Given the description of an element on the screen output the (x, y) to click on. 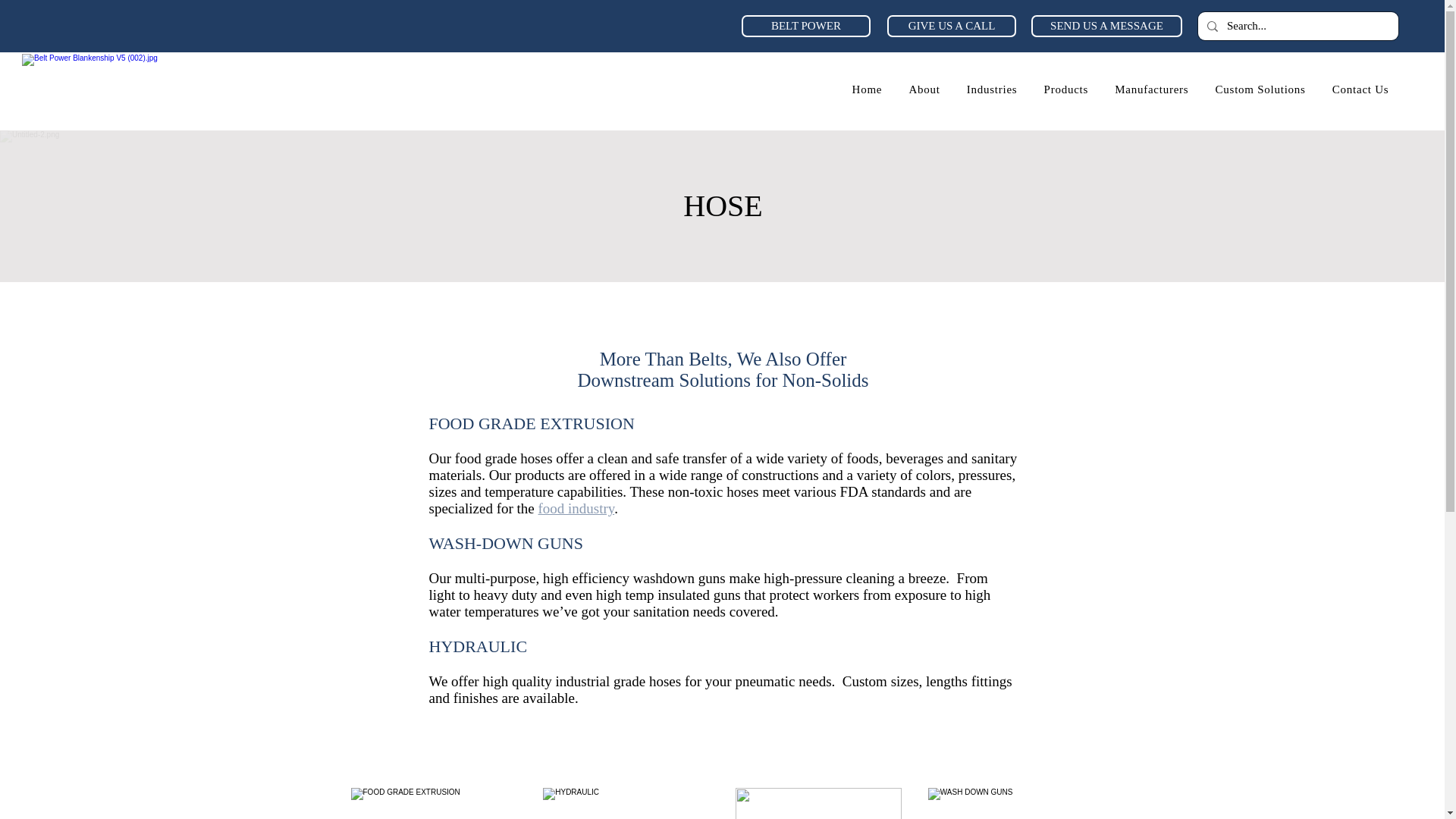
Home (866, 90)
BELT POWER (805, 25)
GIVE US A CALL (951, 25)
SEND US A MESSAGE (1106, 25)
About (924, 90)
